Given the description of an element on the screen output the (x, y) to click on. 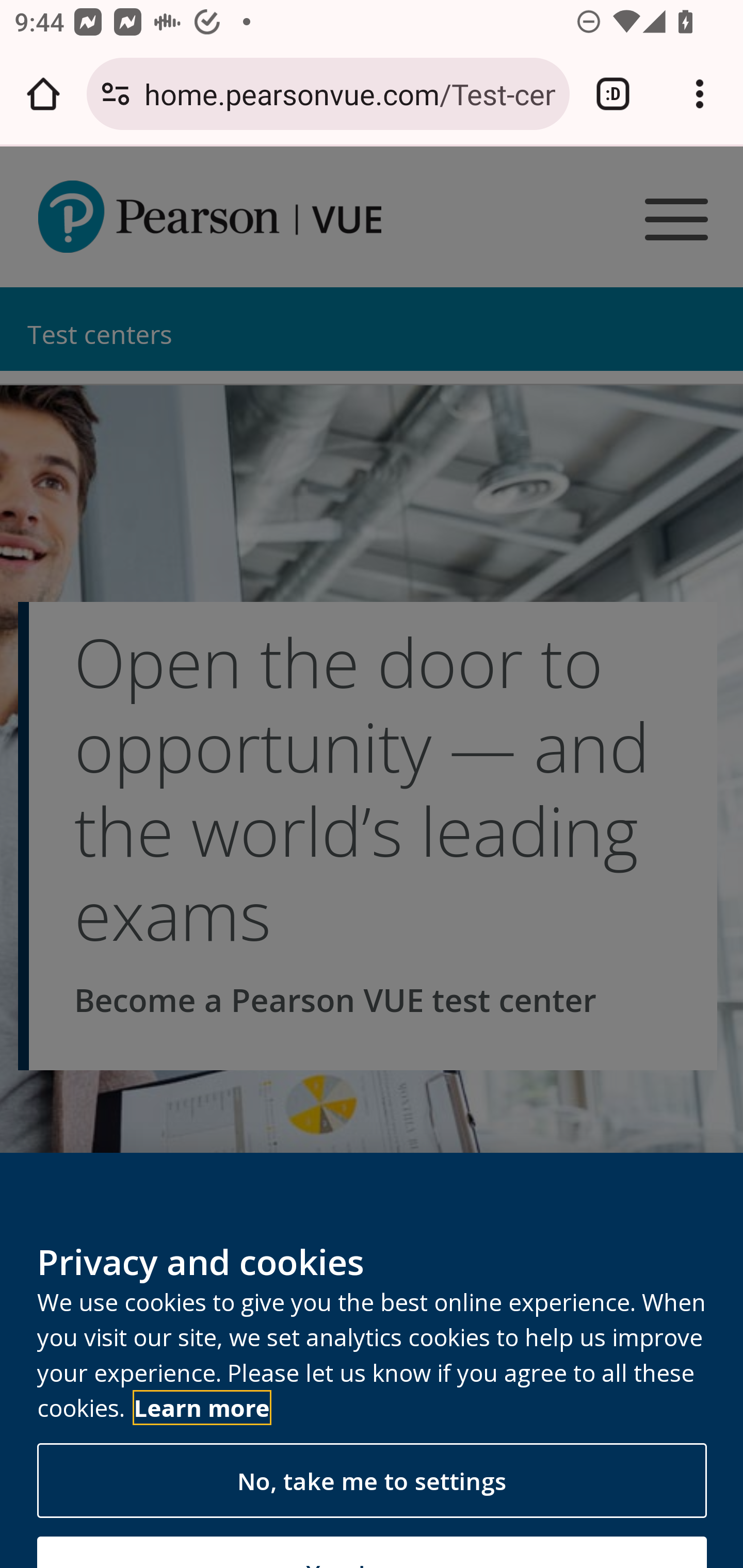
Open the home page (43, 93)
Connection is secure (115, 93)
Switch or close tabs (612, 93)
Customize and control Google Chrome (699, 93)
Apply here (372, 1362)
No, take me to settings (372, 1479)
